Given the description of an element on the screen output the (x, y) to click on. 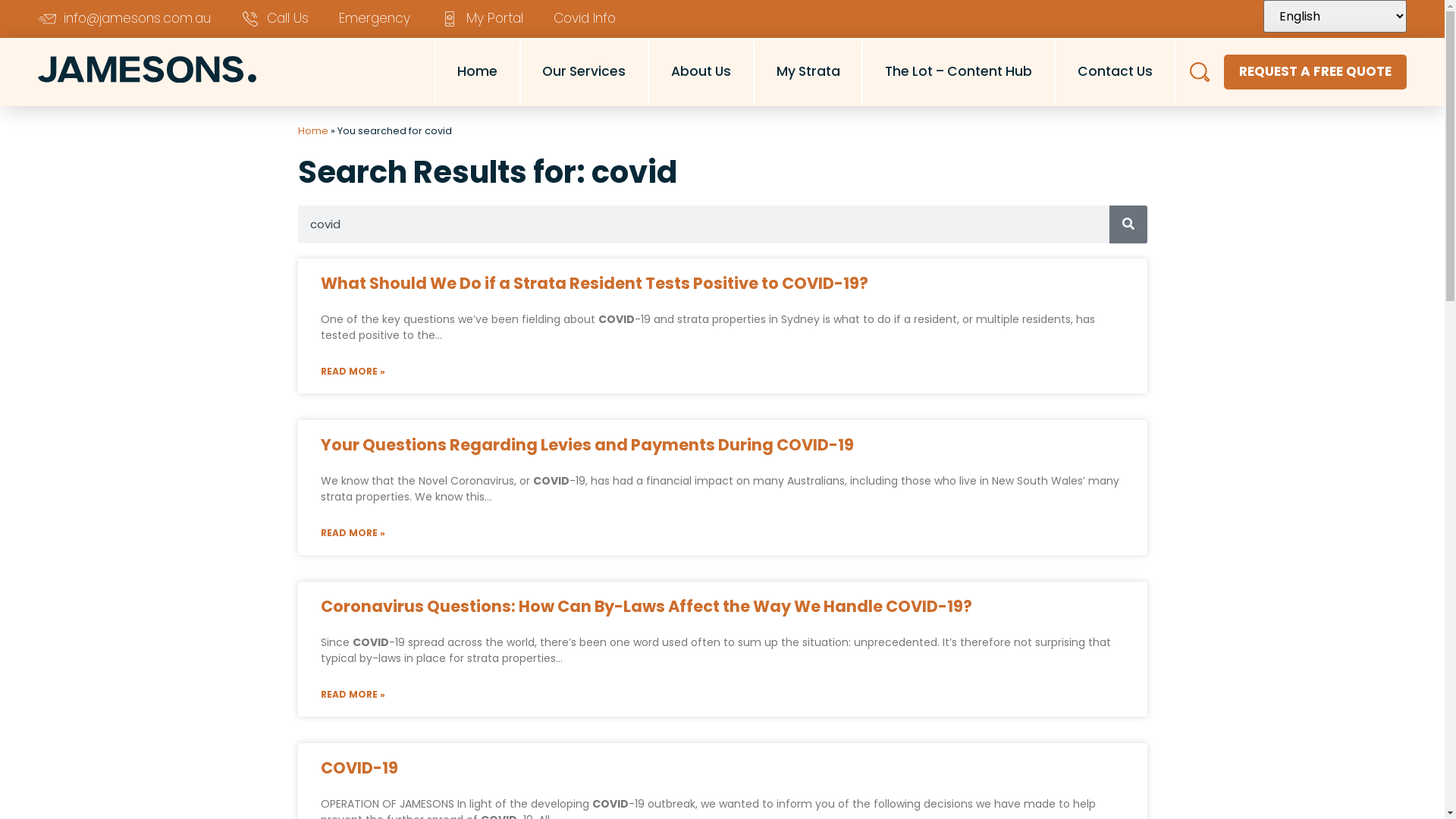
About Us Element type: text (700, 71)
Home Element type: text (477, 71)
Your Questions Regarding Levies and Payments During COVID-19 Element type: text (586, 444)
My Portal Element type: text (481, 18)
Home Element type: text (312, 130)
COVID-19 Element type: text (358, 767)
My Strata Element type: text (807, 71)
Covid Info Element type: text (584, 18)
REQUEST A FREE QUOTE Element type: text (1314, 71)
Our Services Element type: text (584, 71)
Call Us Element type: text (274, 18)
Emergency Element type: text (374, 18)
info@jamesons.com.au Element type: text (123, 18)
Contact Us Element type: text (1114, 71)
